Given the description of an element on the screen output the (x, y) to click on. 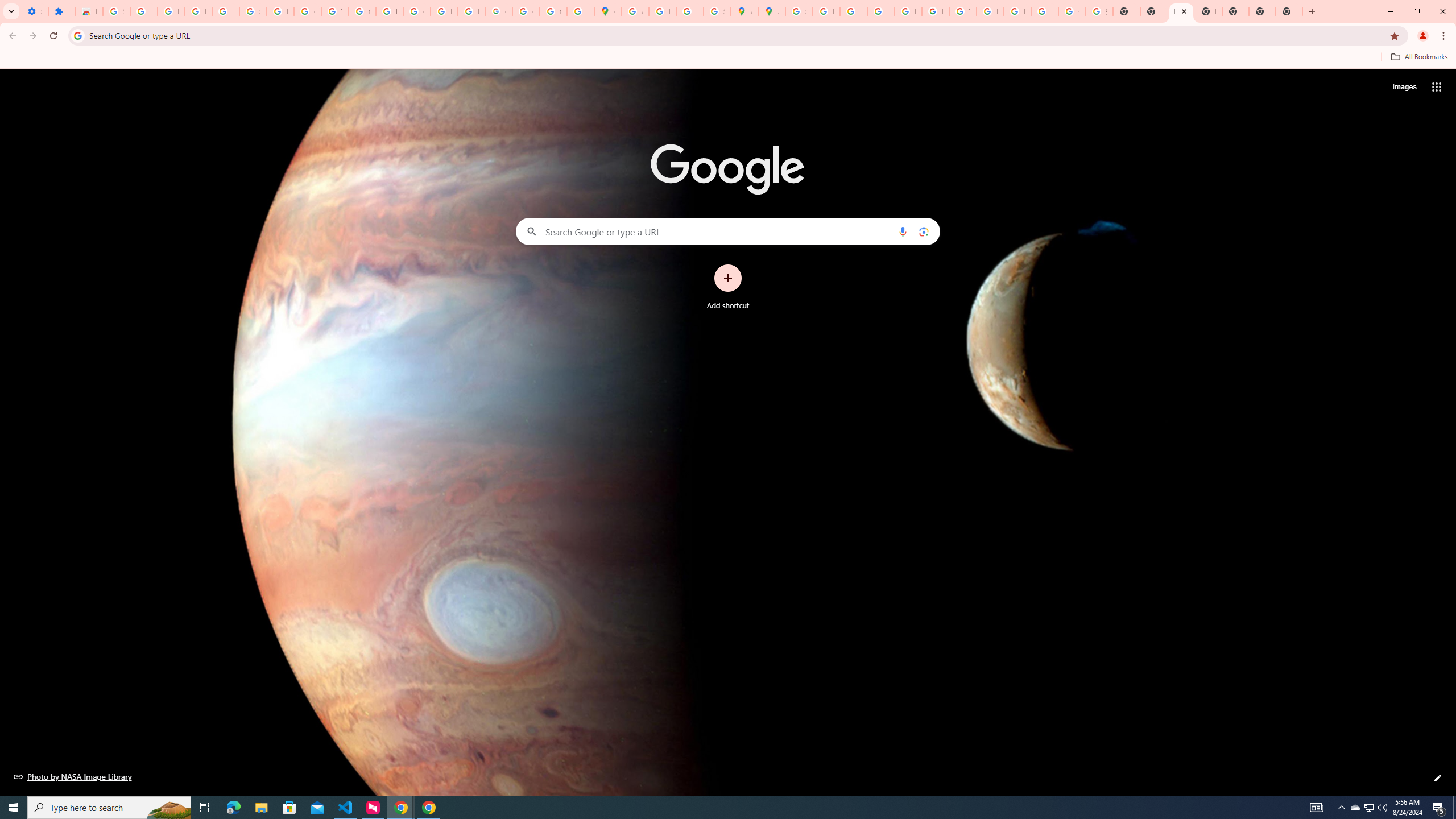
All Bookmarks (1418, 56)
Search icon (77, 35)
YouTube (962, 11)
Search by image (922, 230)
Search for Images  (1403, 87)
